Given the description of an element on the screen output the (x, y) to click on. 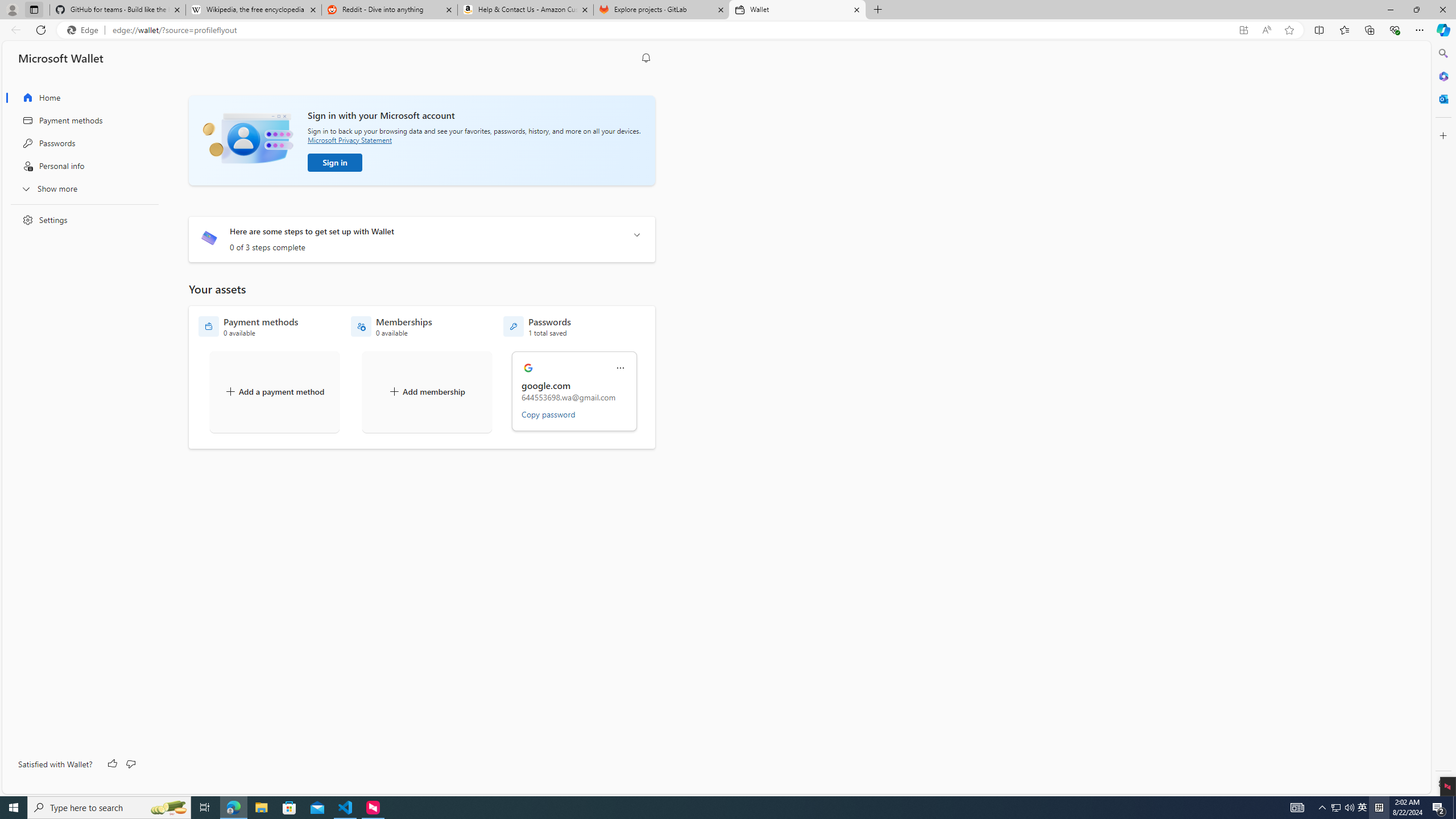
Add membership (427, 391)
More actions (619, 368)
Sign in (334, 162)
Personal info (81, 165)
Like (112, 764)
Wallet (797, 9)
Copy password (548, 414)
Dislike (129, 764)
